Given the description of an element on the screen output the (x, y) to click on. 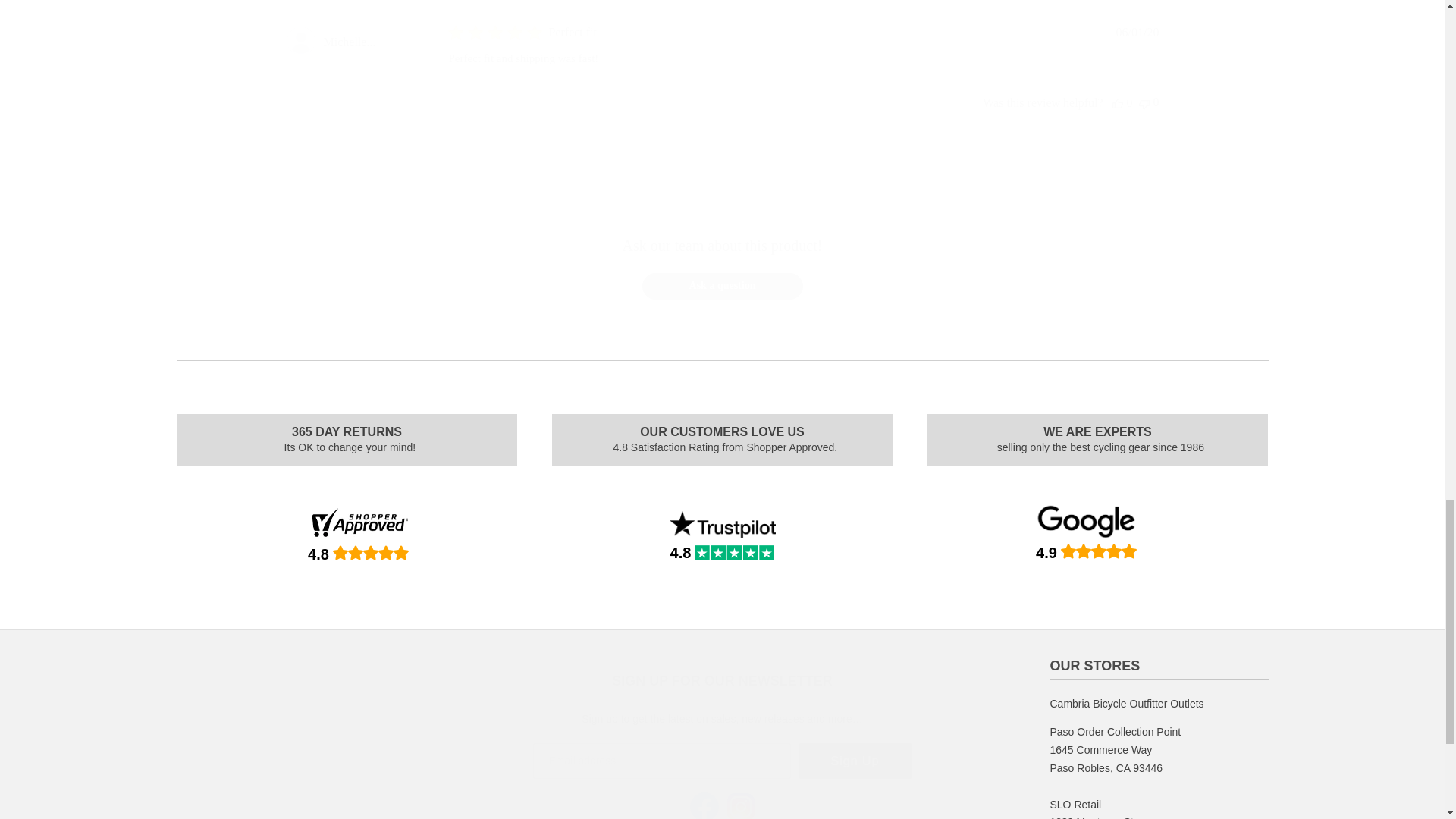
Michelle G. (349, 42)
